Given the description of an element on the screen output the (x, y) to click on. 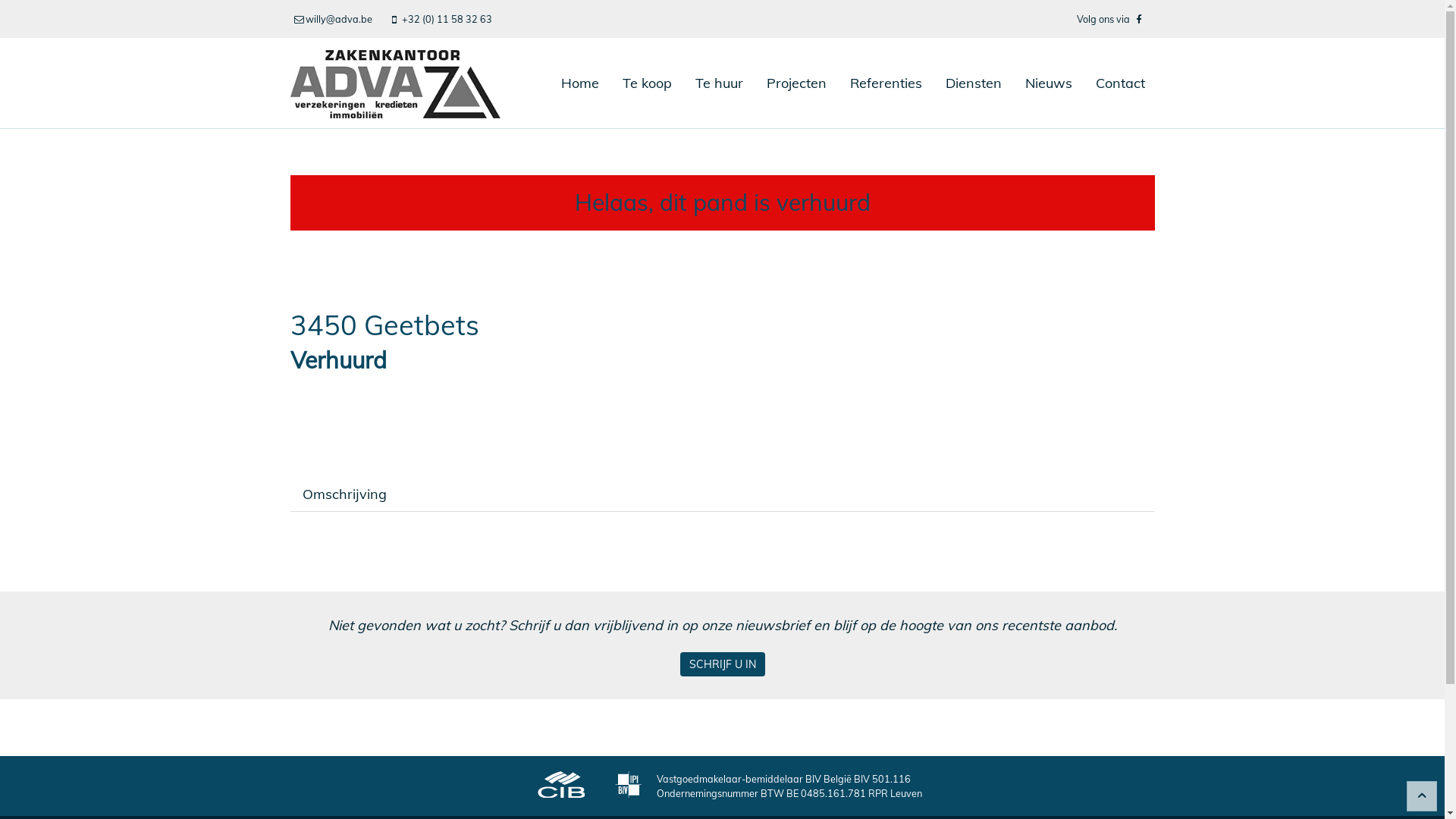
willy@adva.be Element type: text (333, 18)
+32 (0) 11 58 32 63 Element type: text (440, 18)
Facebook Element type: hover (1138, 18)
ADVA Element type: hover (394, 82)
Home Element type: text (579, 82)
SCHRIJF U IN Element type: text (721, 664)
Referenties Element type: text (885, 82)
Te koop Element type: text (646, 82)
Terug naar boven Element type: hover (1421, 796)
Te huur Element type: text (719, 82)
Nieuws Element type: text (1047, 82)
Projecten Element type: text (796, 82)
Diensten Element type: text (973, 82)
Omschrijving Element type: text (343, 493)
BIV Element type: hover (627, 786)
Contact Element type: text (1119, 82)
CIB Element type: hover (560, 786)
